Given the description of an element on the screen output the (x, y) to click on. 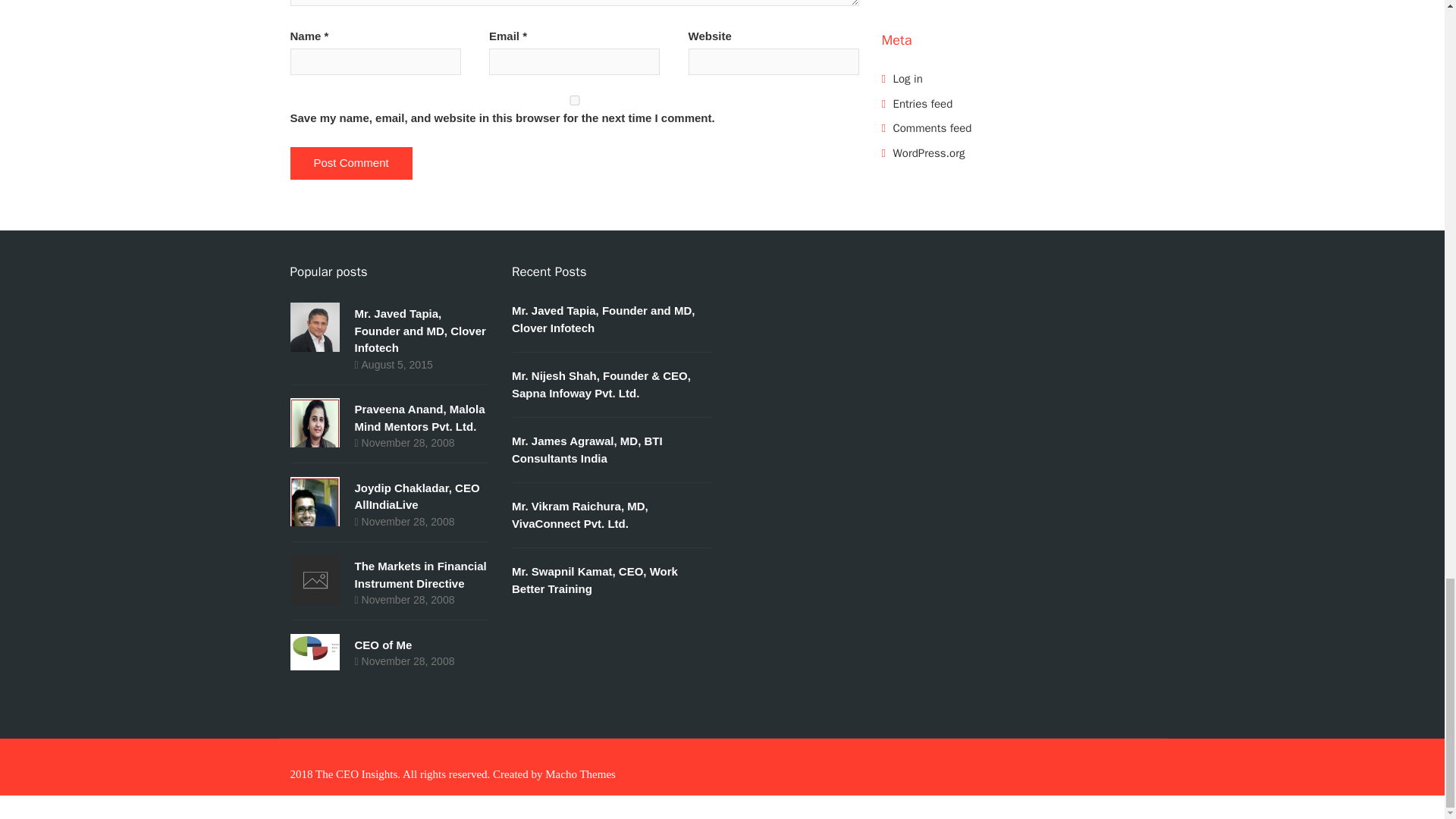
Post Comment (350, 163)
Praveena Anand, Malola Mind Mentors Pvt. Ltd. (419, 417)
Joydip Chakladar, CEO AllIndiaLive (417, 496)
CEO of Me (383, 644)
The Markets in Financial Instrument Directive (420, 574)
yes (574, 100)
Post Comment (350, 163)
Mr. Javed Tapia, Founder and MD, Clover Infotech (420, 330)
Professional WordPress Themes (579, 774)
